Given the description of an element on the screen output the (x, y) to click on. 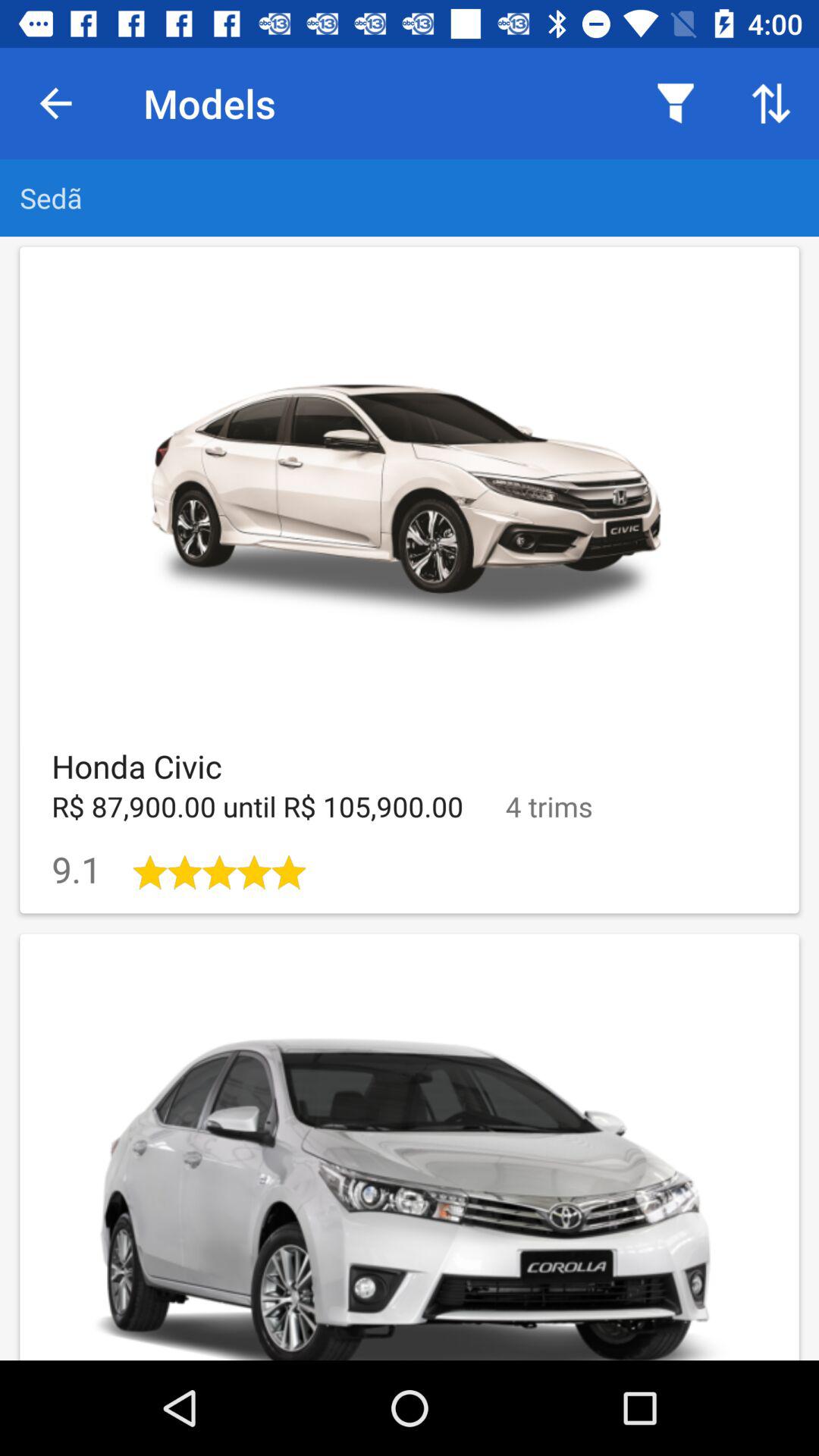
select icon next to the models item (675, 103)
